Given the description of an element on the screen output the (x, y) to click on. 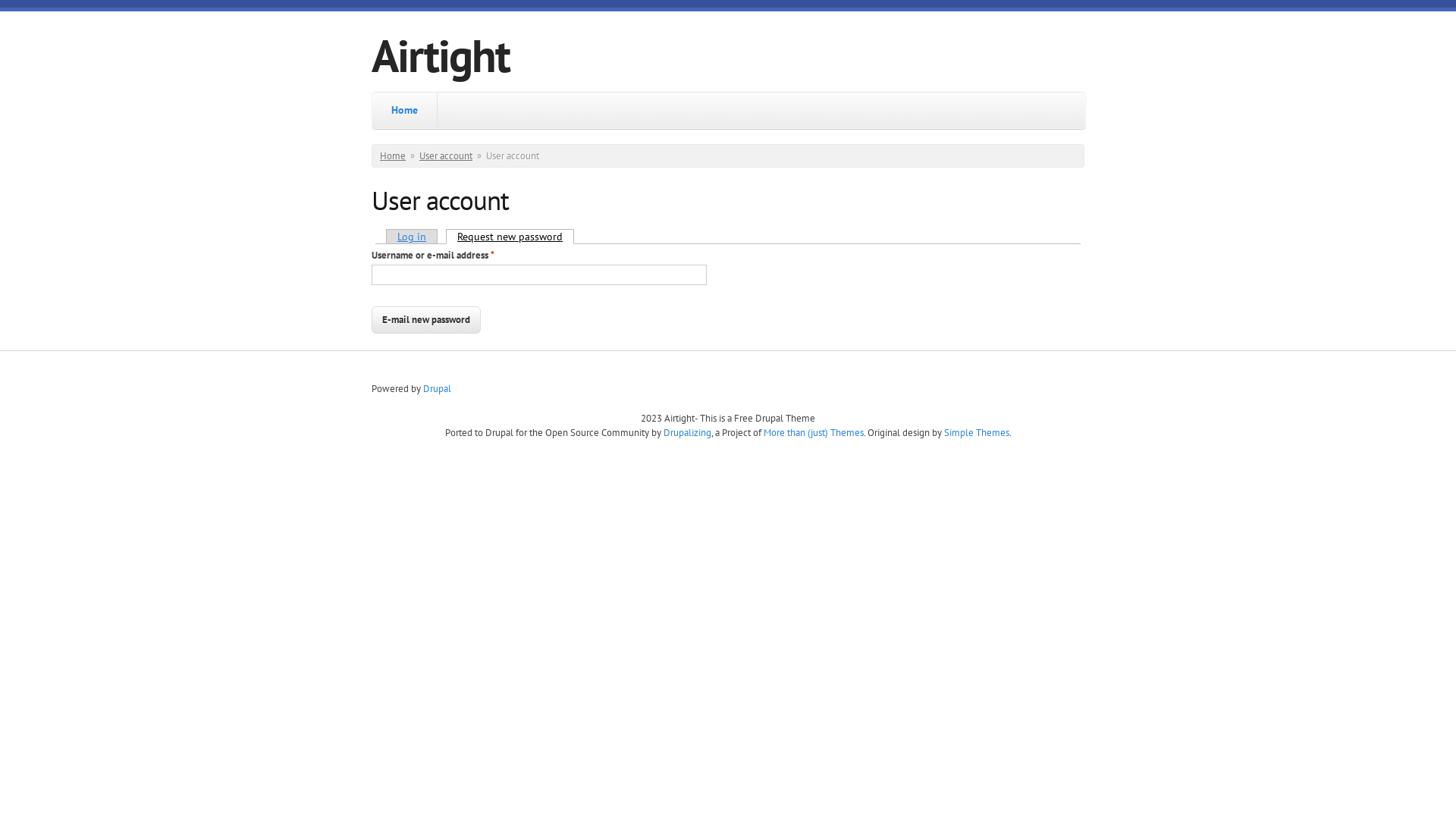
Request new password
(active tab) Element type: text (509, 236)
E-mail new password Element type: text (425, 319)
Drupal Element type: text (437, 388)
More than (just) Themes Element type: text (812, 432)
Simple Themes Element type: text (975, 432)
Home Element type: text (404, 110)
Log in Element type: text (411, 236)
Skip to main content Element type: text (48, 7)
Airtight Element type: text (440, 54)
Home Element type: text (392, 155)
User account Element type: text (445, 155)
Drupalizing Element type: text (686, 432)
